Given the description of an element on the screen output the (x, y) to click on. 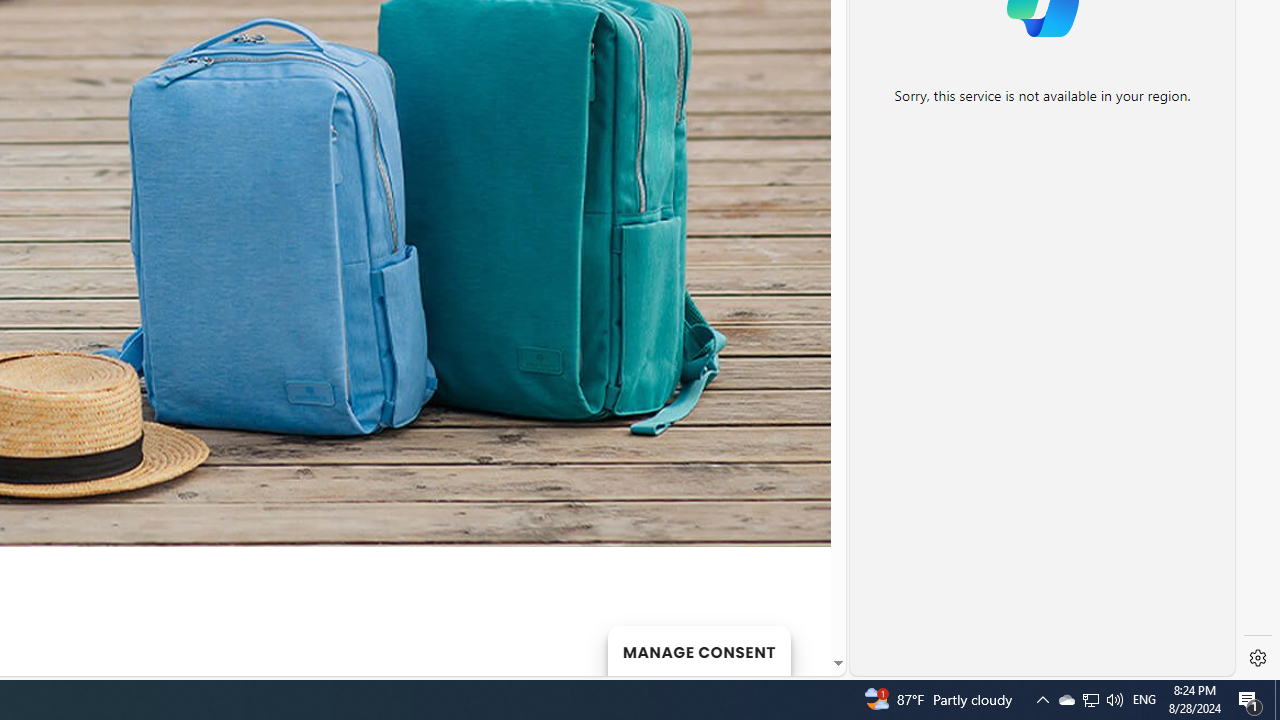
MANAGE CONSENT (698, 650)
